Given the description of an element on the screen output the (x, y) to click on. 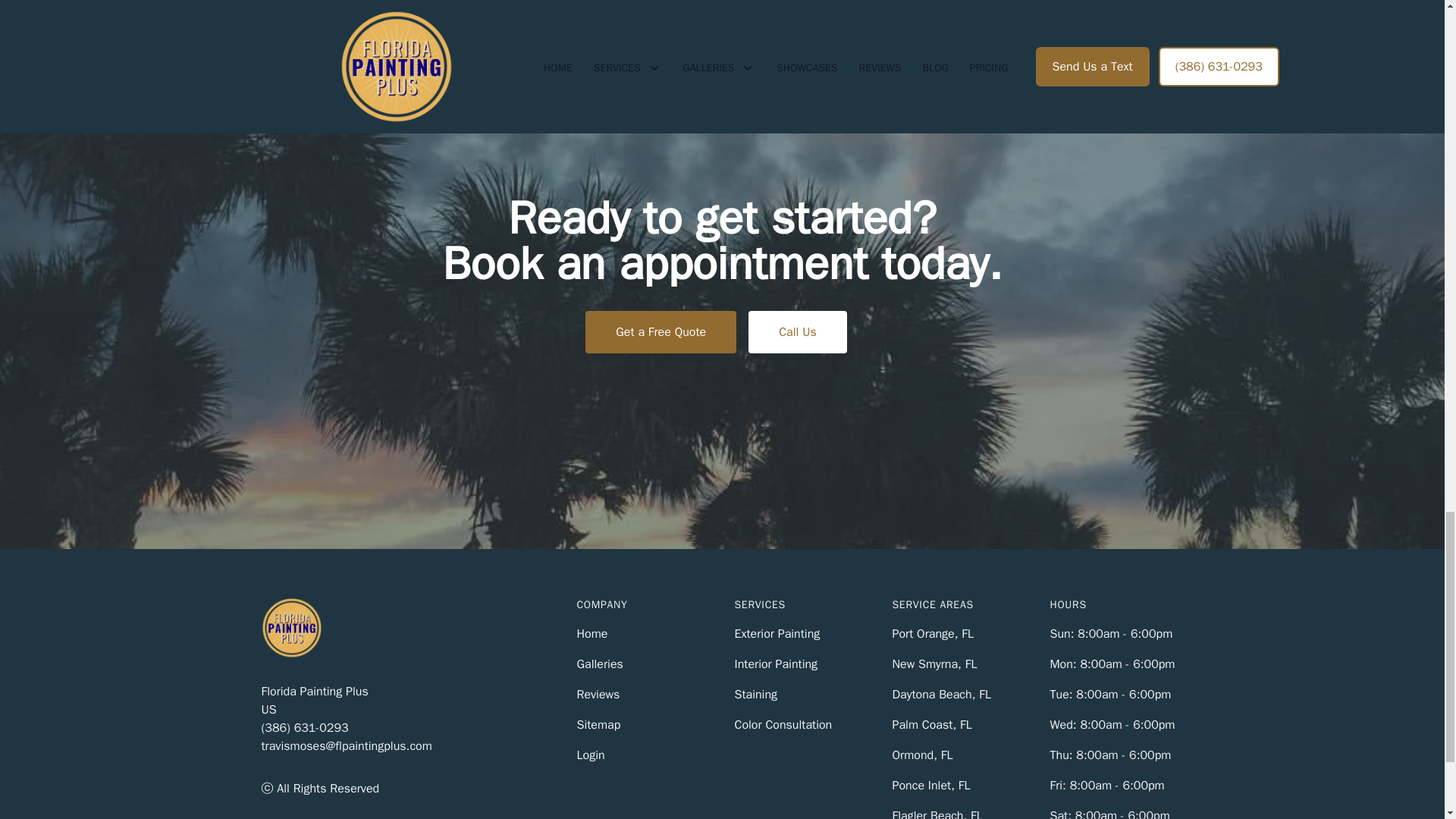
Call Us (797, 331)
Exterior Painting (776, 633)
Interior Painting (774, 663)
Galleries (599, 663)
Home (591, 633)
Get a Free Quote (660, 331)
Staining (755, 694)
Login (590, 754)
Sitemap (598, 724)
Reviews (598, 694)
Color Consultation (782, 724)
